Given the description of an element on the screen output the (x, y) to click on. 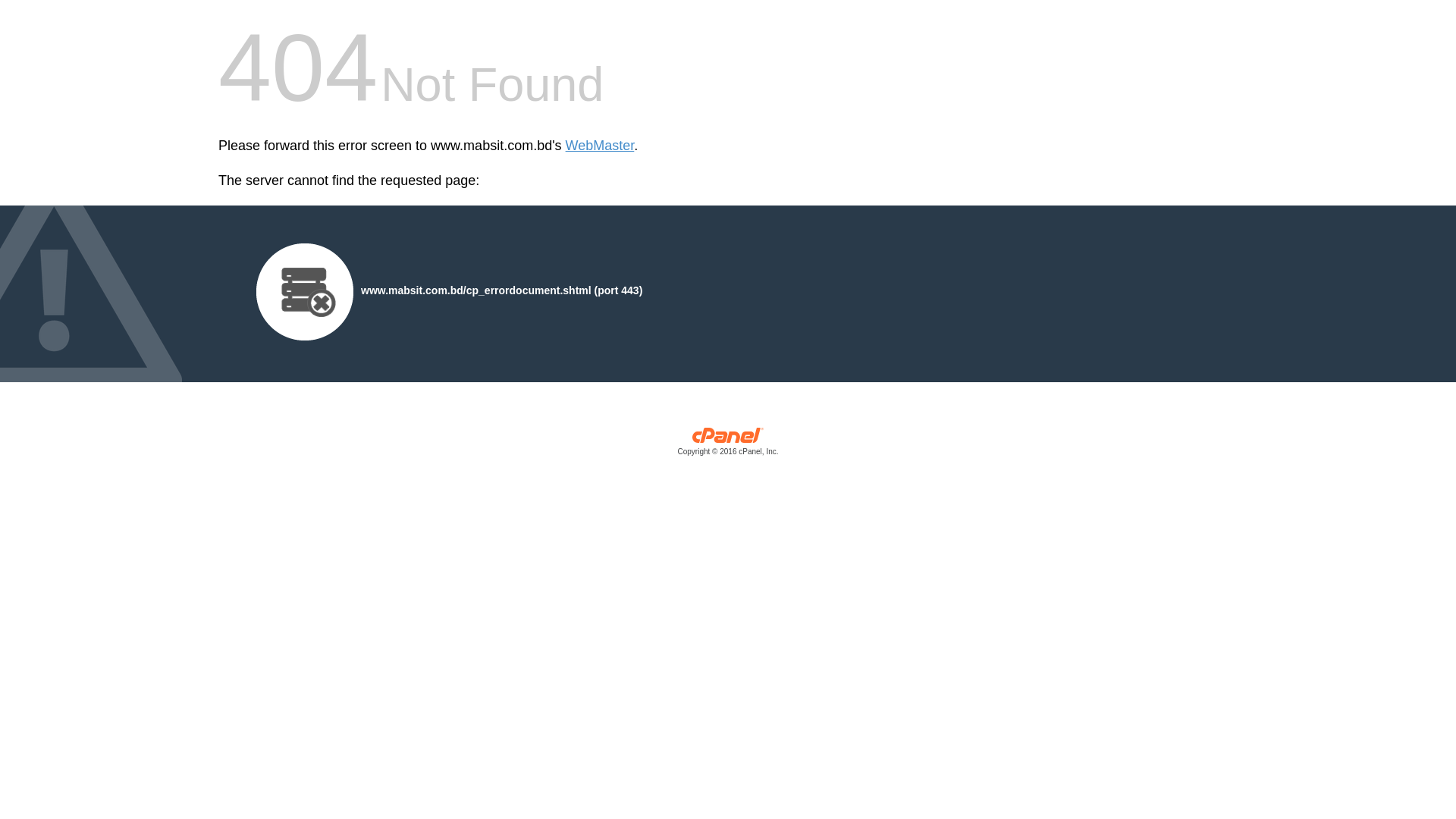
WebMaster Element type: text (599, 145)
